Given the description of an element on the screen output the (x, y) to click on. 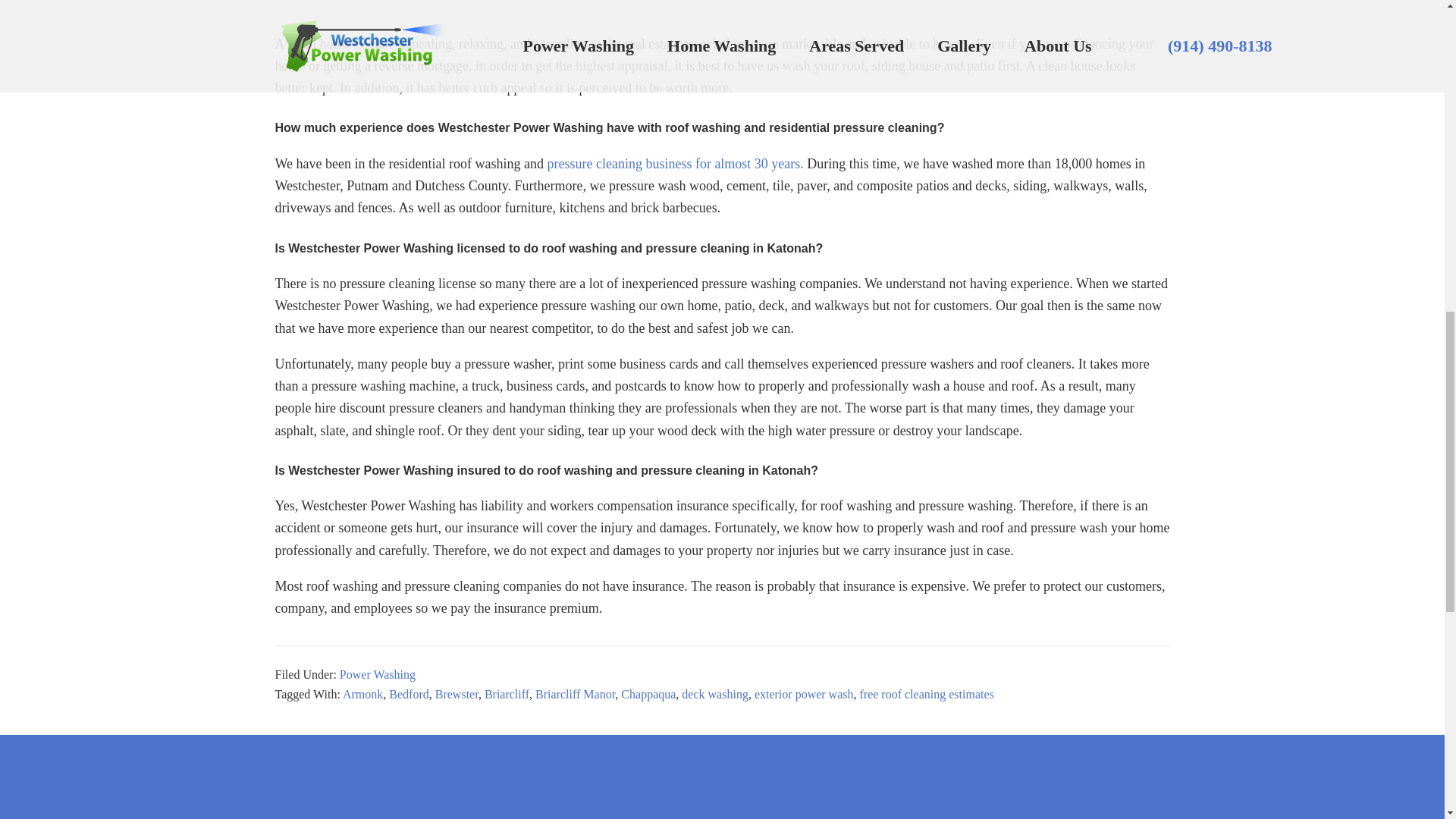
free roof cleaning estimates (927, 694)
exterior power wash (803, 694)
Briarcliff (506, 694)
Chappaqua (648, 694)
Brewster (457, 694)
Briarcliff Manor (574, 694)
Bedford (408, 694)
pressure cleaning business for almost 30 years. (673, 163)
Armonk (362, 694)
deck washing (714, 694)
